Given the description of an element on the screen output the (x, y) to click on. 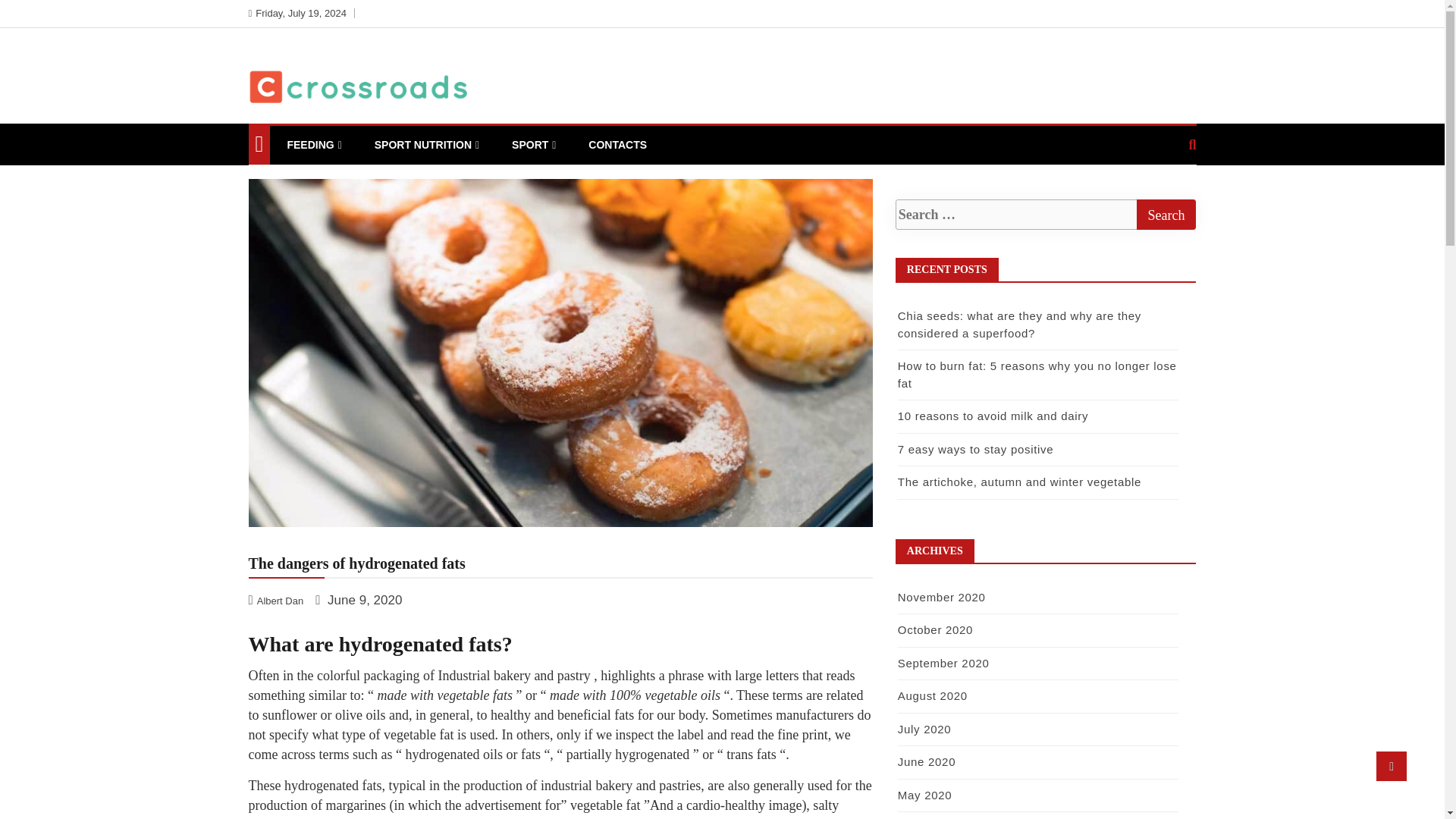
Search (1165, 214)
FEEDING (313, 145)
CONTACTS (617, 144)
June 9, 2020 (358, 599)
SPORT (533, 145)
July 2020 (925, 728)
Albert Dan (277, 599)
SPORT NUTRITION (426, 145)
Search (1165, 214)
November 2020 (941, 596)
How to burn fat: 5 reasons why you no longer lose fat (1037, 374)
June 2020 (926, 761)
10 reasons to avoid milk and dairy (992, 415)
September 2020 (944, 662)
August 2020 (933, 695)
